Given the description of an element on the screen output the (x, y) to click on. 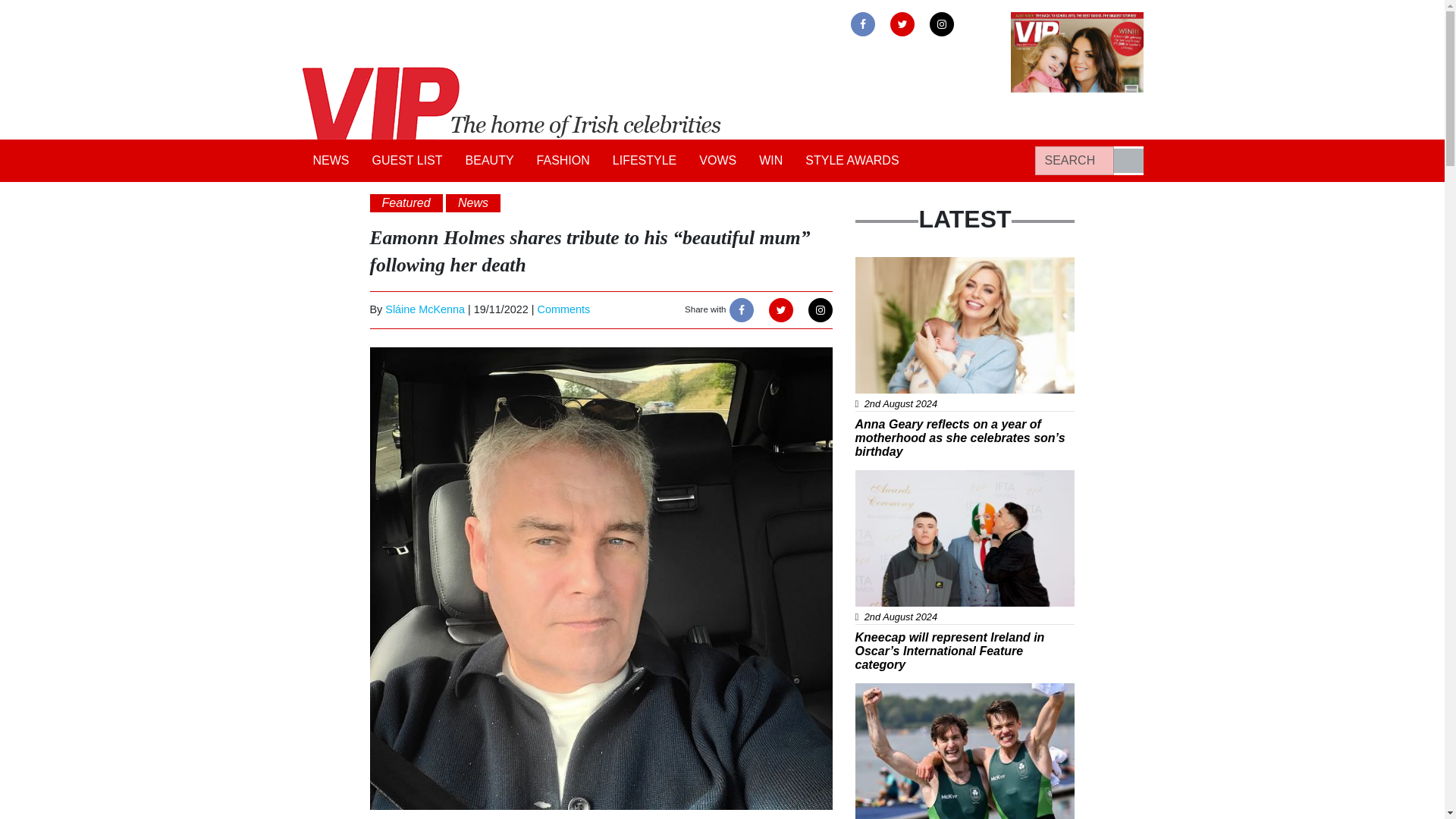
Comments (564, 309)
FASHION (563, 160)
GUEST LIST (407, 160)
Featured (405, 203)
WIN (770, 160)
News (881, 265)
News (472, 203)
VOWS (717, 160)
BEAUTY (489, 160)
News (881, 478)
LIFESTYLE (644, 160)
NEWS (331, 160)
STYLE AWARDS (851, 160)
